Given the description of an element on the screen output the (x, y) to click on. 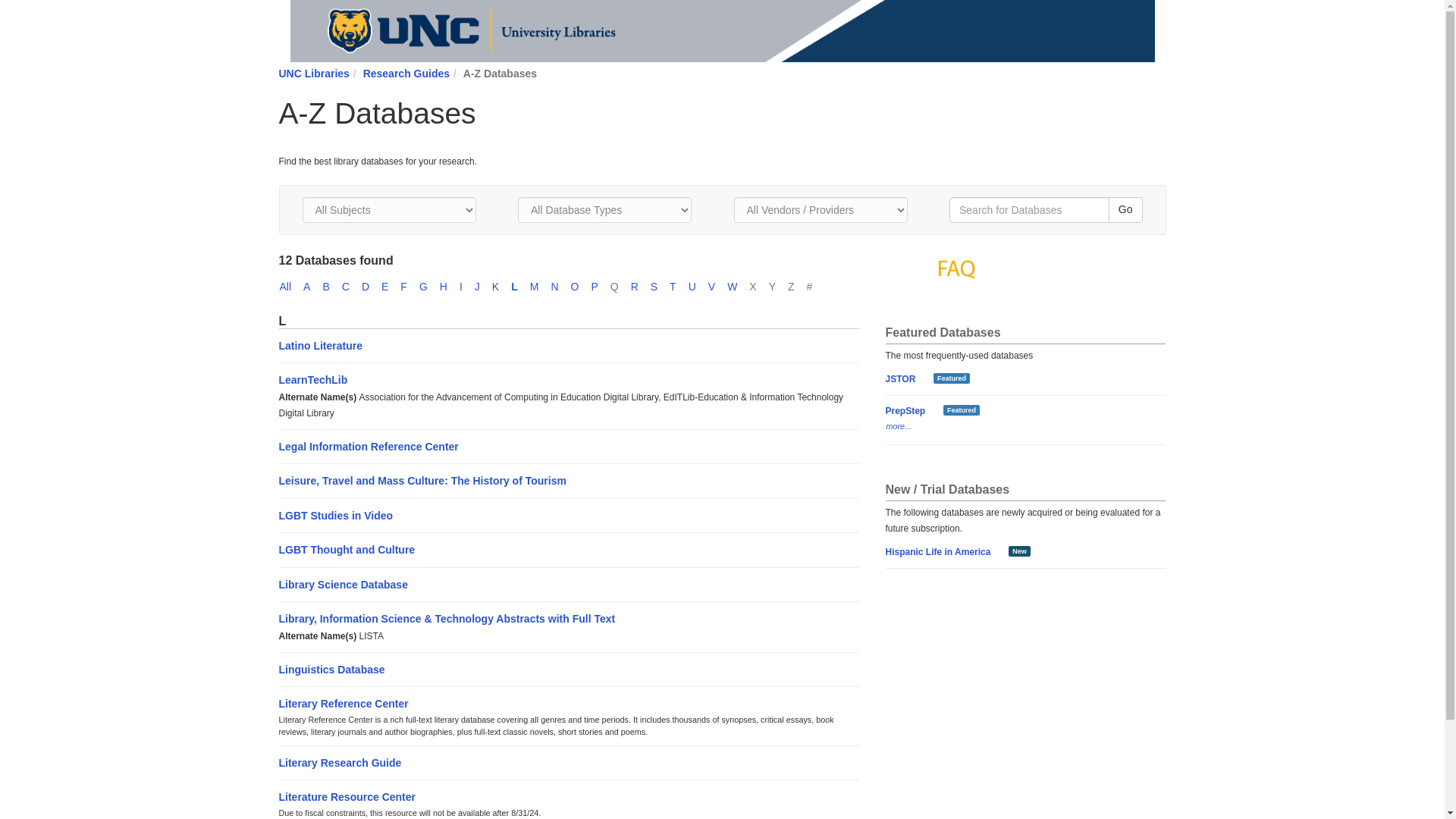
All (291, 287)
W (737, 287)
UNC Libraries (314, 73)
Go (1125, 209)
Research Guides (405, 73)
M (540, 287)
